Given the description of an element on the screen output the (x, y) to click on. 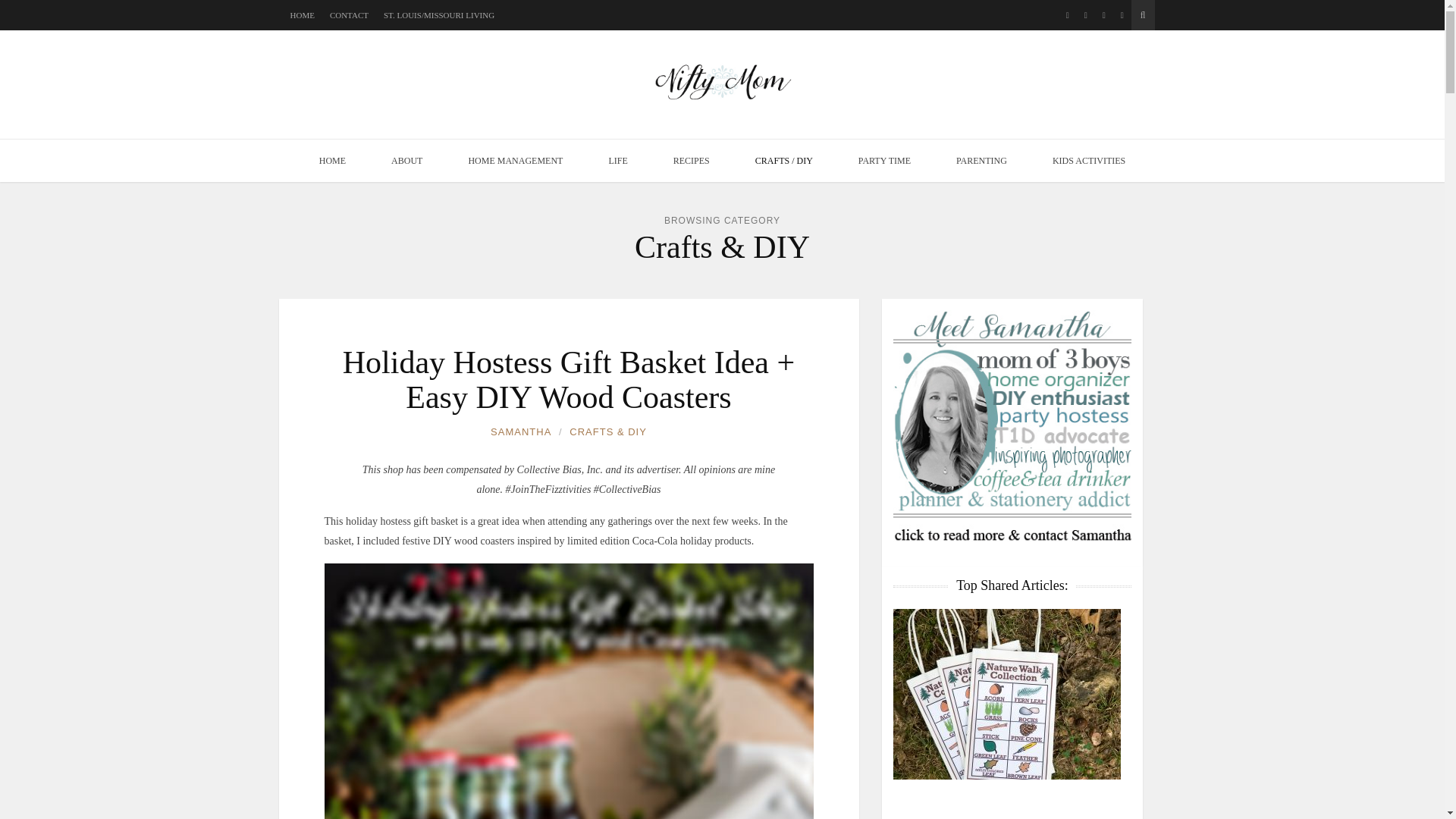
Posts by Samantha (520, 432)
CONTACT (349, 15)
PARTY TIME (884, 160)
PARENTING (981, 160)
SAMANTHA (520, 432)
ABOUT (406, 160)
LIFE (617, 160)
HOME (332, 160)
KIDS ACTIVITIES (1088, 160)
RECIPES (691, 160)
